Given the description of an element on the screen output the (x, y) to click on. 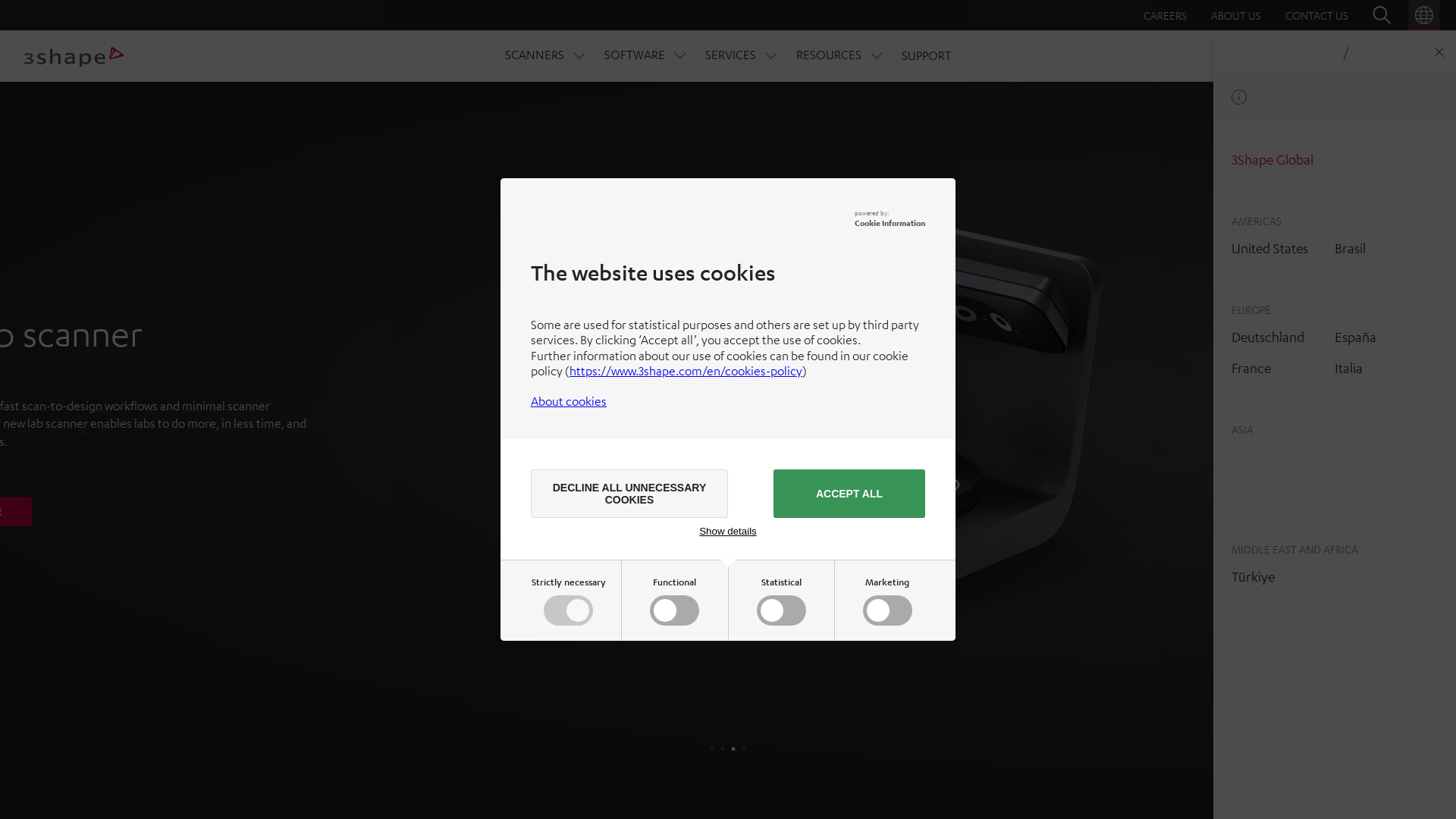
SUPPORT Element type: text (925, 55)
CONTACT US Element type: text (1316, 14)
DECLINE ALL UNNECESSARY COOKIES Element type: text (629, 493)
United States Element type: text (1269, 247)
About cookies Element type: text (568, 400)
Show details Element type: text (727, 530)
EXPLORE UNITE Element type: text (188, 511)
on Element type: text (784, 612)
3Shape Element type: hover (73, 56)
Cookie Information Element type: text (889, 222)
on Element type: text (890, 612)
France Element type: text (1250, 367)
ABOUT US Element type: text (1236, 14)
Italia Element type: text (1348, 367)
Deutschland Element type: text (1267, 336)
3Shape Global Element type: text (1272, 158)
REQUEST DEMO Element type: text (1372, 55)
on Element type: text (677, 612)
https://www.3shape.com/en/cookies-policy Element type: text (685, 370)
ACCEPT ALL Element type: text (849, 493)
CAREERS Element type: text (1164, 14)
Brasil Element type: text (1349, 247)
